Given the description of an element on the screen output the (x, y) to click on. 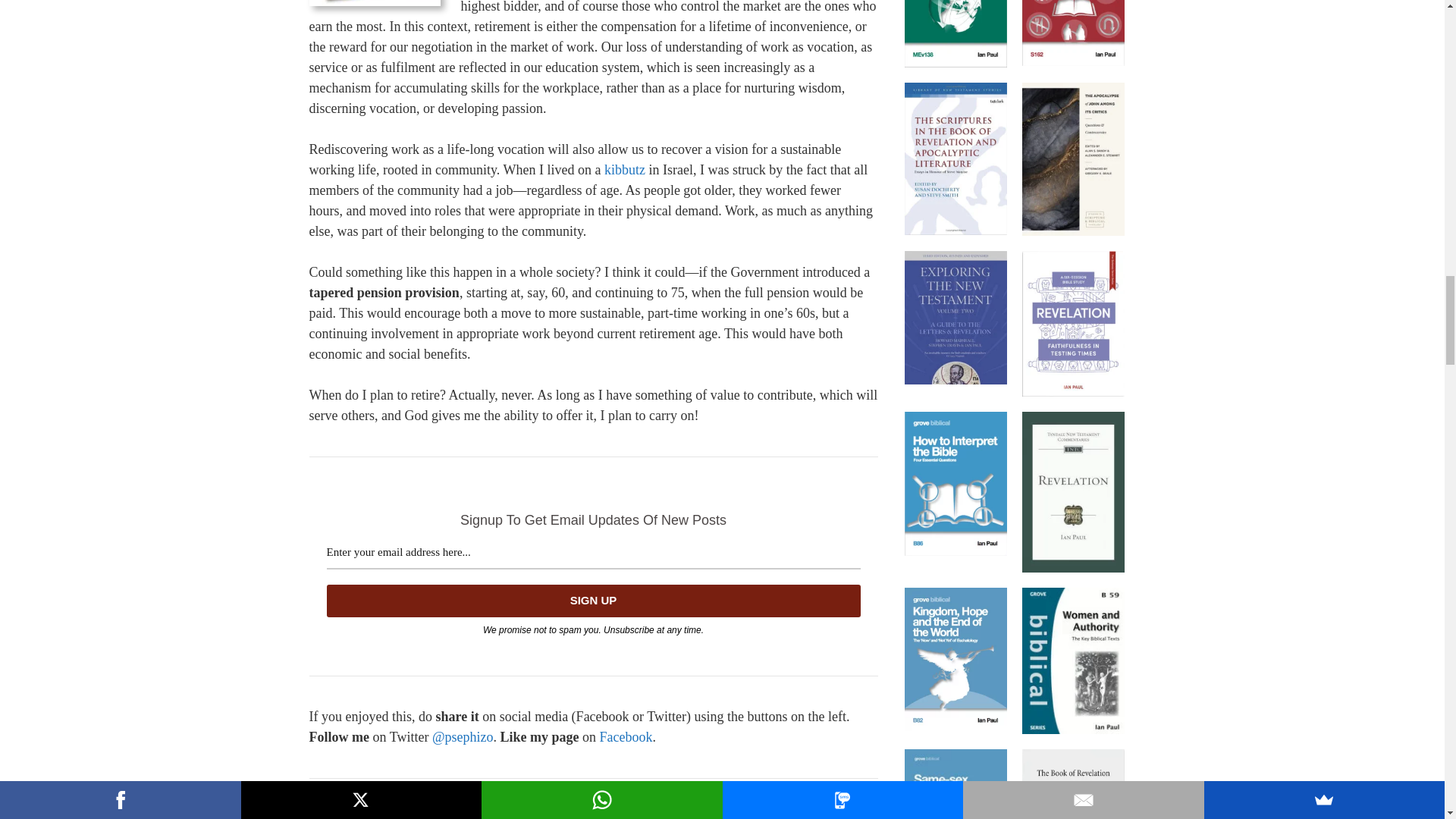
Facebook (625, 736)
Sign Up (593, 600)
Sign Up (593, 600)
kibbutz (624, 169)
